Given the description of an element on the screen output the (x, y) to click on. 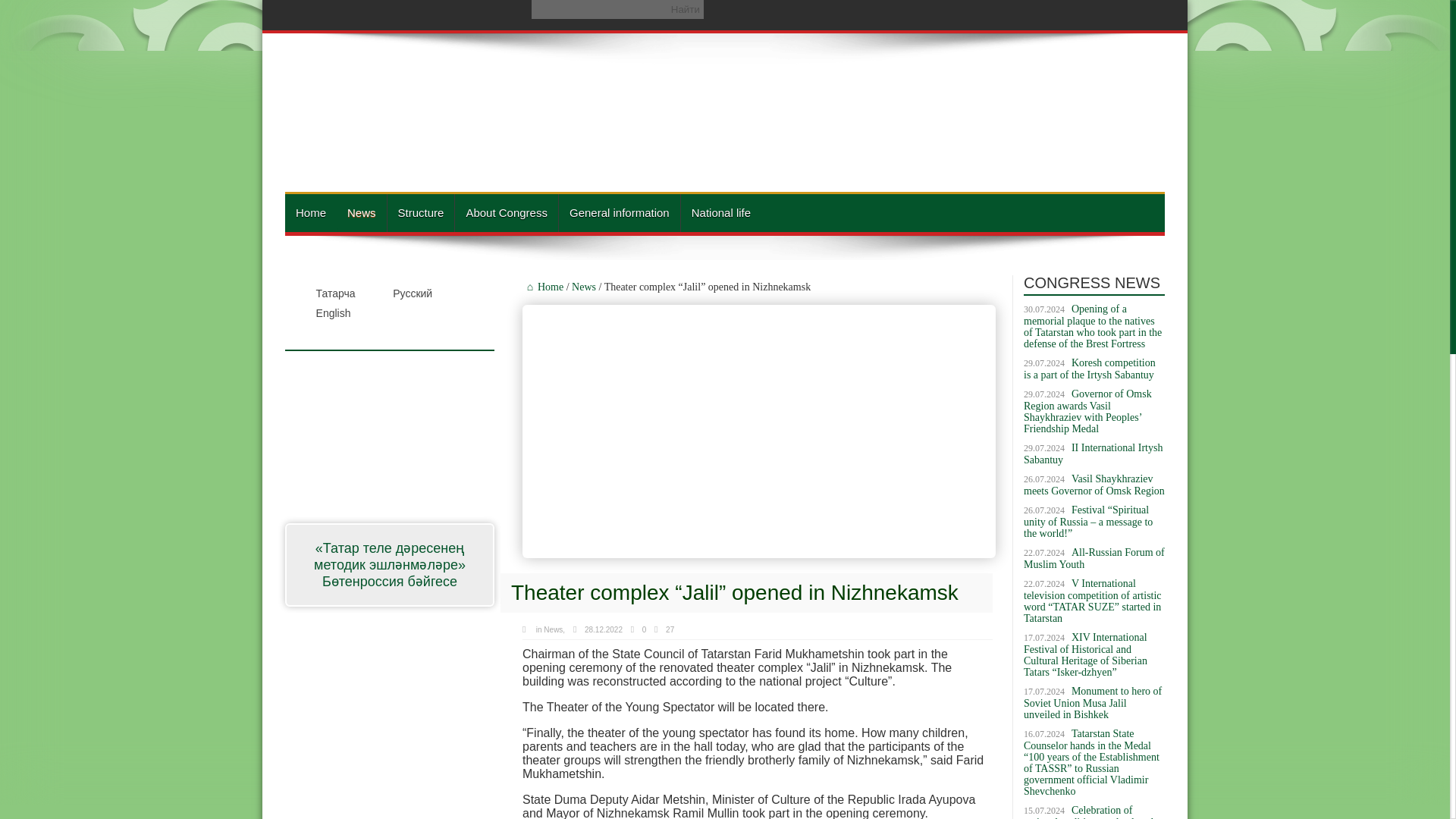
Structure (420, 212)
General information (618, 212)
News (361, 212)
Home (542, 286)
National life (720, 212)
English (321, 311)
About Congress (505, 212)
Home (310, 212)
News (552, 629)
News (583, 286)
